Given the description of an element on the screen output the (x, y) to click on. 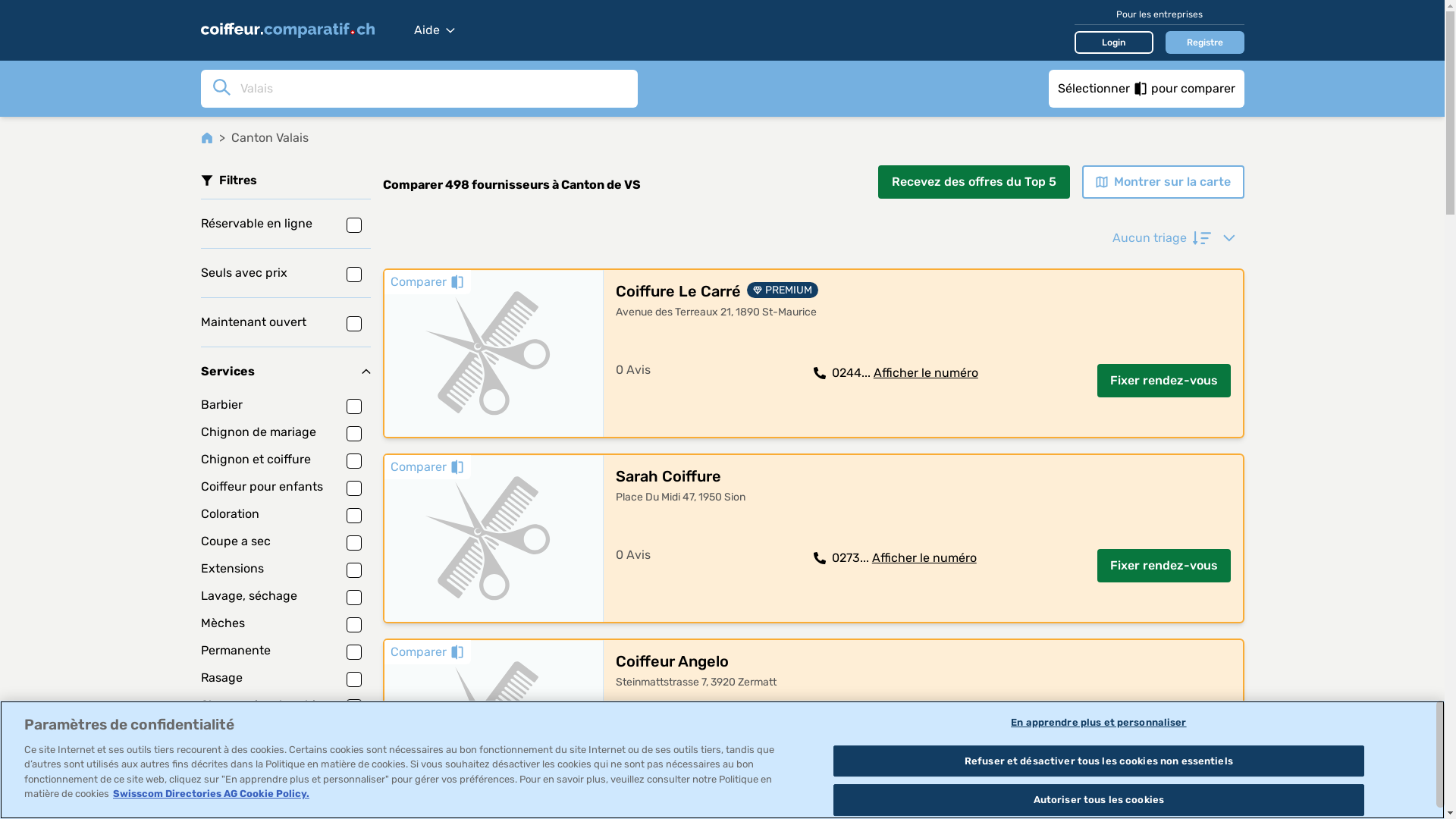
En apprendre plus et personnaliser Element type: text (1098, 722)
Comparer Element type: text (426, 467)
Login Element type: text (1112, 41)
Fixer rendez-vous Element type: text (1163, 750)
Swisscom Directories AG Cookie Policy. Element type: text (210, 793)
Seuls avec prix Element type: text (285, 272)
Autoriser tous les cookies Element type: text (1098, 799)
Comparer Element type: text (426, 281)
Aucun triage Element type: text (1172, 237)
Fixer rendez-vous Element type: text (1163, 565)
Maintenant ouvert Element type: text (285, 321)
Recevez des offres du Top 5 Element type: text (974, 181)
Registre Element type: text (1203, 41)
Montrer sur la carte Element type: text (1162, 181)
Comparer Element type: text (426, 652)
Fixer rendez-vous Element type: text (1163, 380)
Aide Element type: text (434, 30)
